Given the description of an element on the screen output the (x, y) to click on. 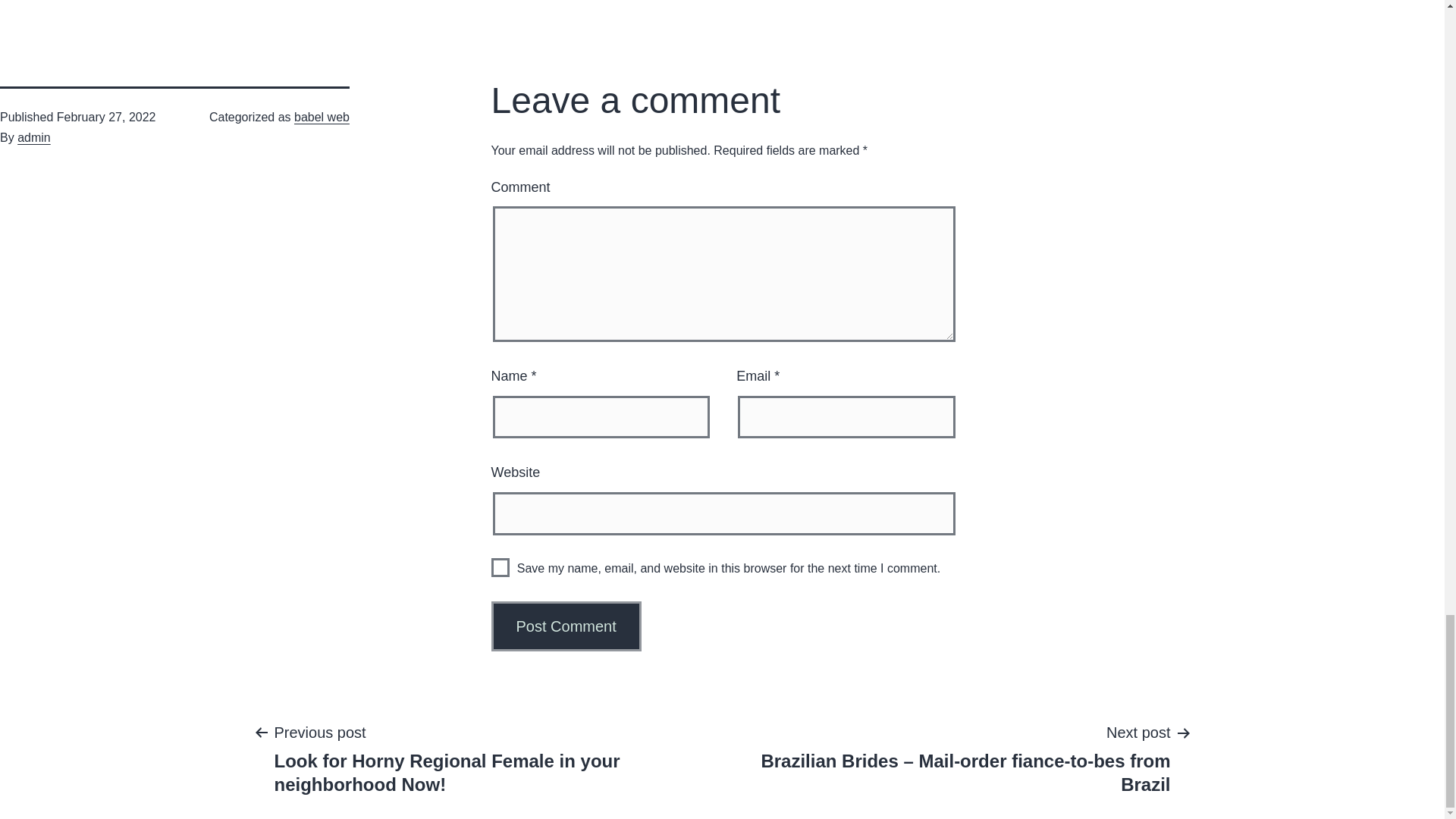
Post Comment (567, 626)
Post Comment (567, 626)
yes (500, 567)
admin (33, 137)
babel web (321, 116)
